Given the description of an element on the screen output the (x, y) to click on. 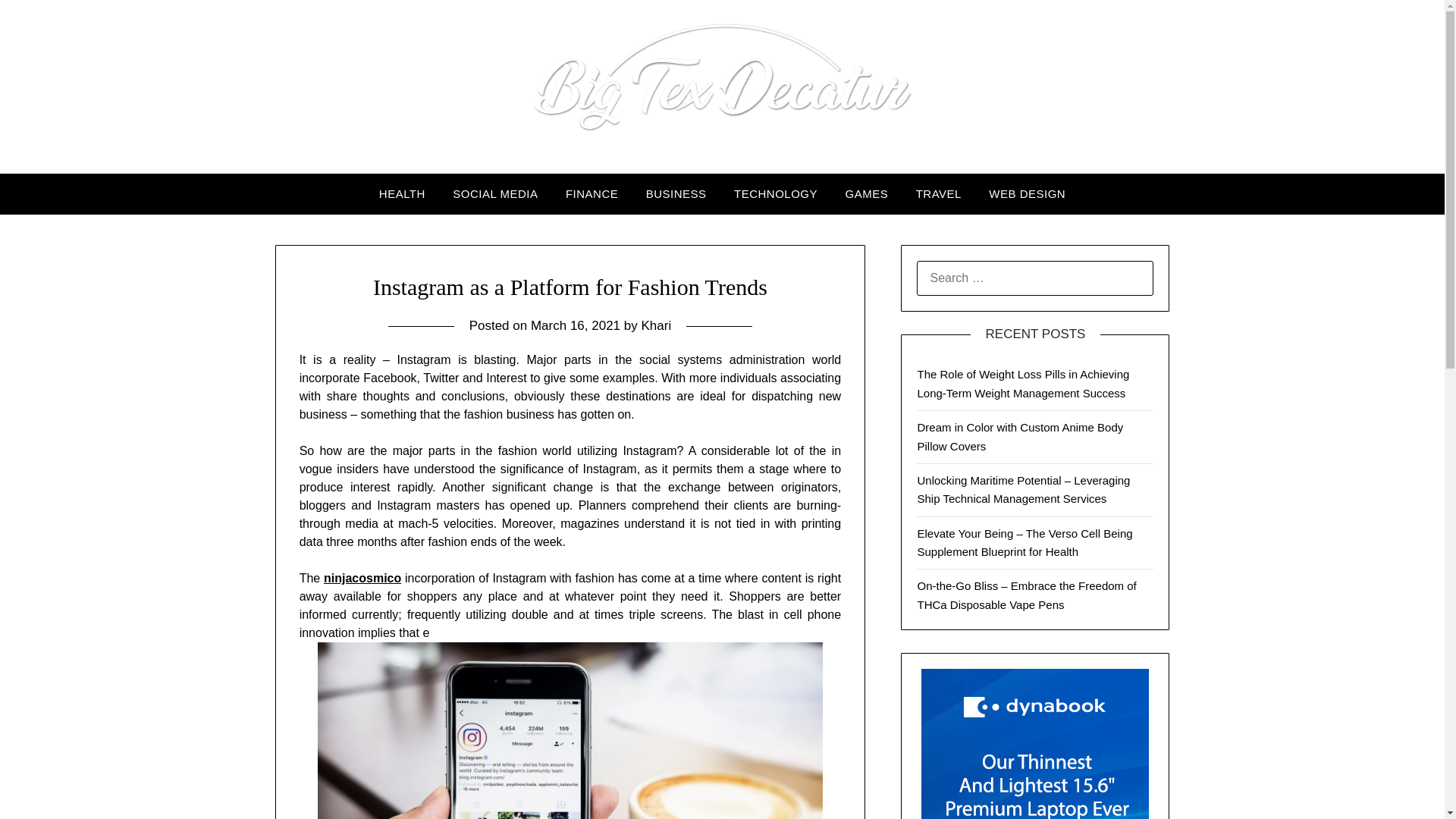
ninjacosmico (362, 577)
WEB DESIGN (1026, 193)
TRAVEL (939, 193)
SOCIAL MEDIA (495, 193)
FINANCE (591, 193)
HEALTH (402, 193)
Search (38, 22)
Khari (655, 325)
BUSINESS (676, 193)
